Given the description of an element on the screen output the (x, y) to click on. 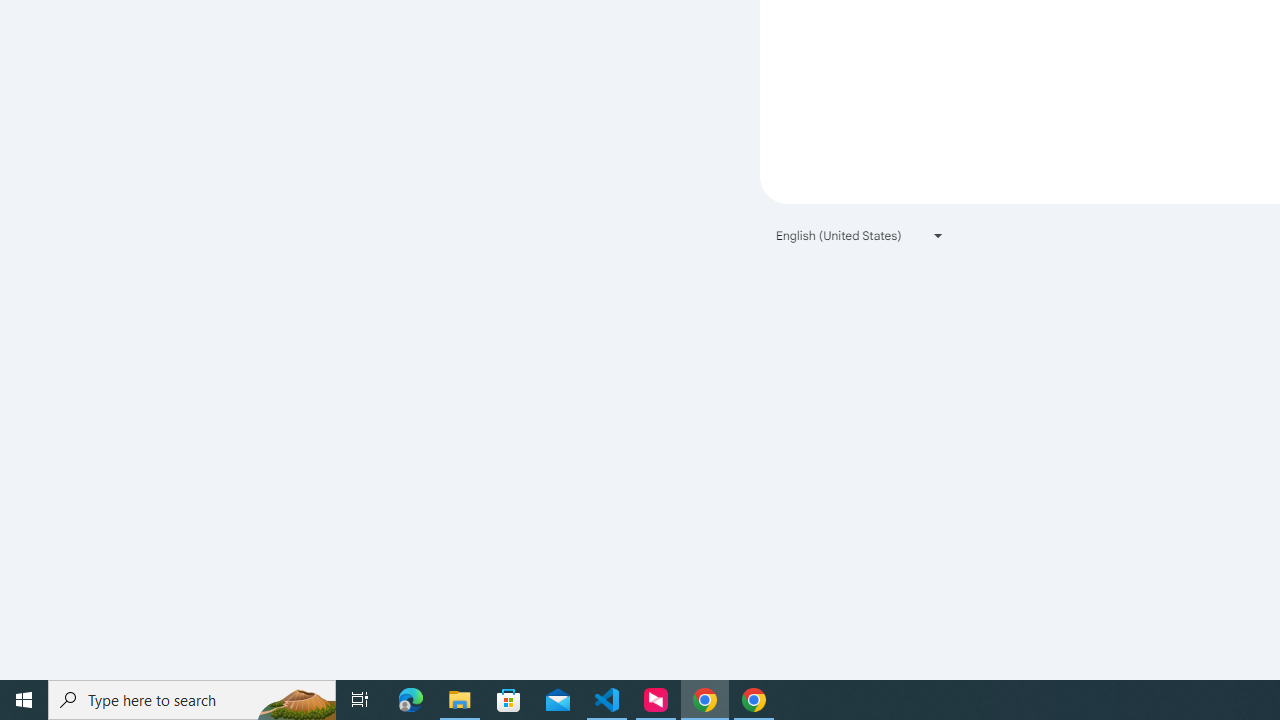
English (United States) (860, 234)
